Given the description of an element on the screen output the (x, y) to click on. 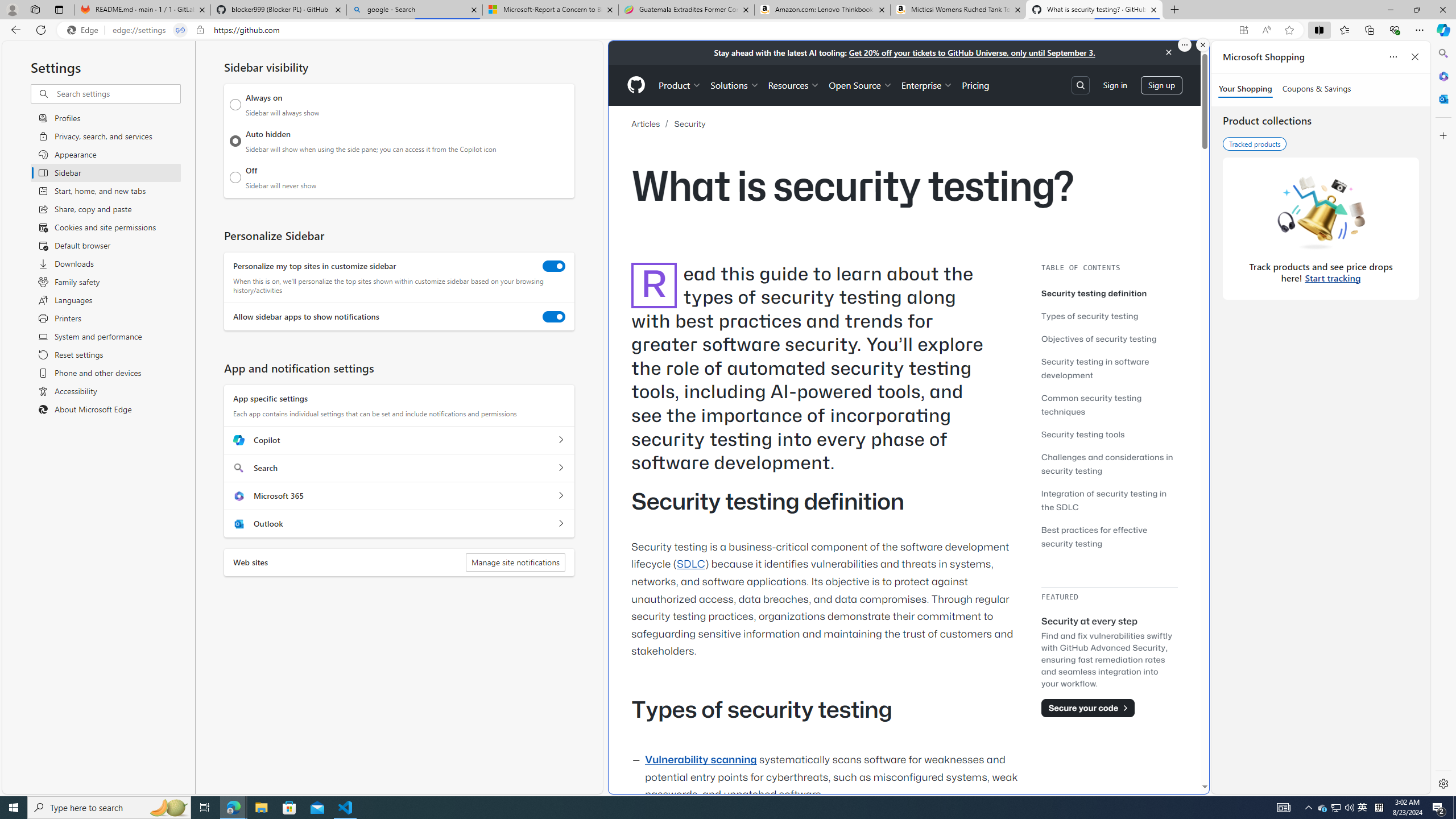
Integration of security testing in the SDLC (1109, 500)
Off Sidebar will never show (235, 177)
Security testing tools (1083, 433)
Security testing definition (1094, 293)
Pricing (975, 84)
Security testing definition (1109, 292)
Personalize my top sites in customize sidebar (553, 265)
Challenges and considerations in security testing (1109, 463)
Tabs in split screen (180, 29)
Security testing in software development (1094, 368)
